Given the description of an element on the screen output the (x, y) to click on. 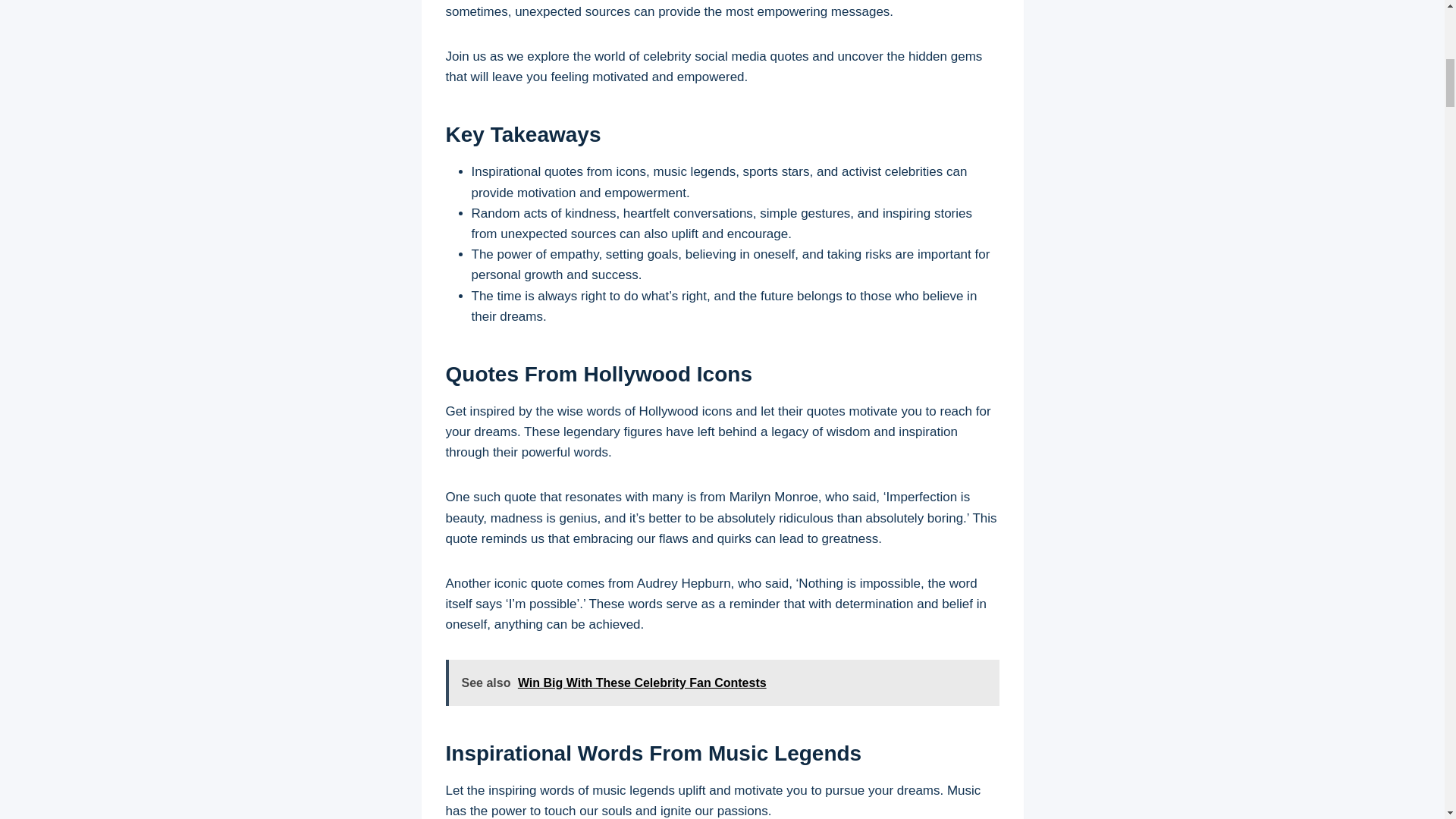
See also  Win Big With These Celebrity Fan Contests (721, 682)
